Given the description of an element on the screen output the (x, y) to click on. 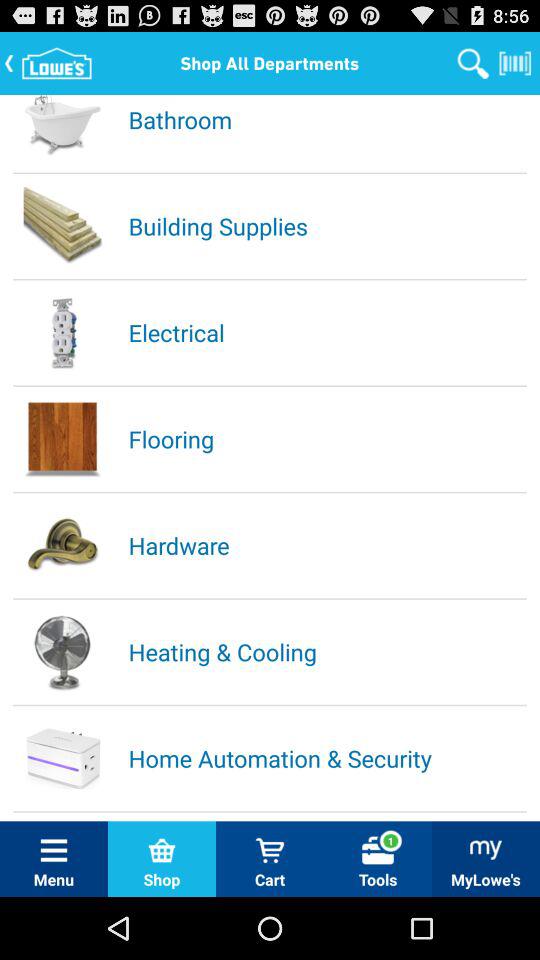
open icon above the hardware icon (326, 438)
